Given the description of an element on the screen output the (x, y) to click on. 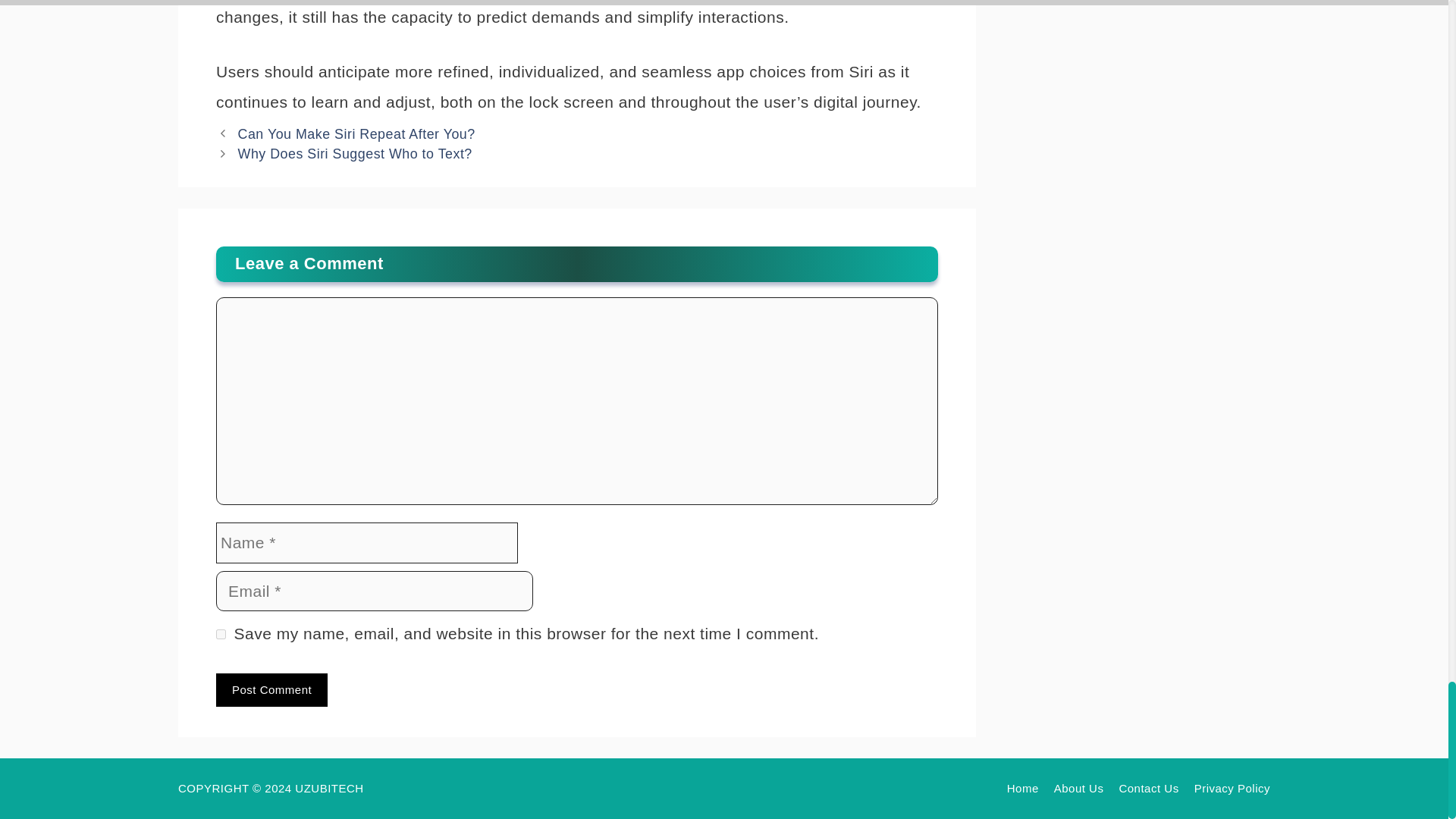
yes (220, 634)
About Us (1078, 788)
Home (1023, 788)
Post Comment (271, 690)
Can You Make Siri Repeat After You? (357, 133)
Contact Us (1147, 788)
Why Does Siri Suggest Who to Text? (354, 153)
Privacy Policy (1231, 788)
Post Comment (271, 690)
